Given the description of an element on the screen output the (x, y) to click on. 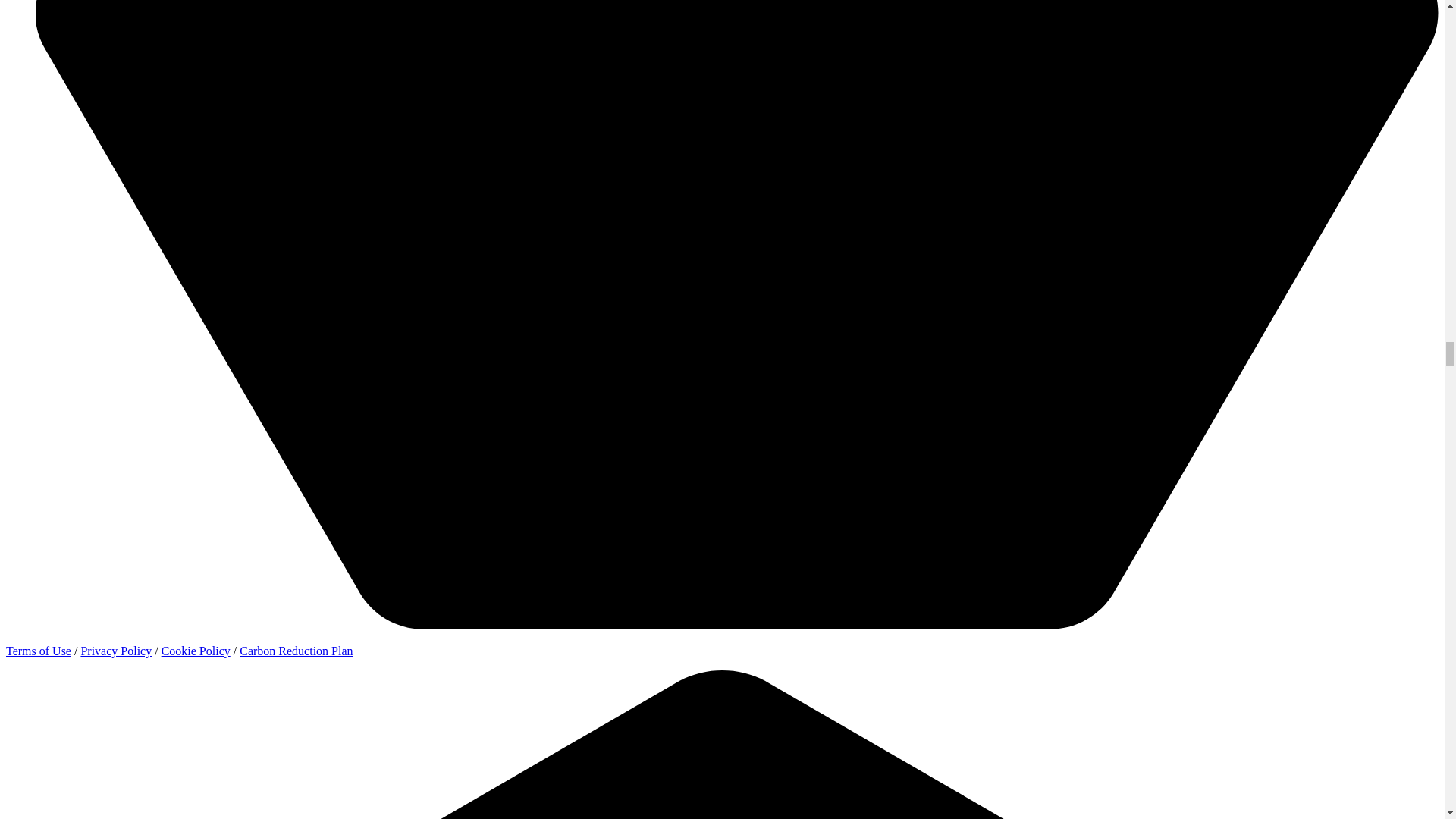
Privacy Policy (115, 650)
Terms of Use (38, 650)
Carbon Reduction Plan (296, 650)
Cookie Policy (195, 650)
